Given the description of an element on the screen output the (x, y) to click on. 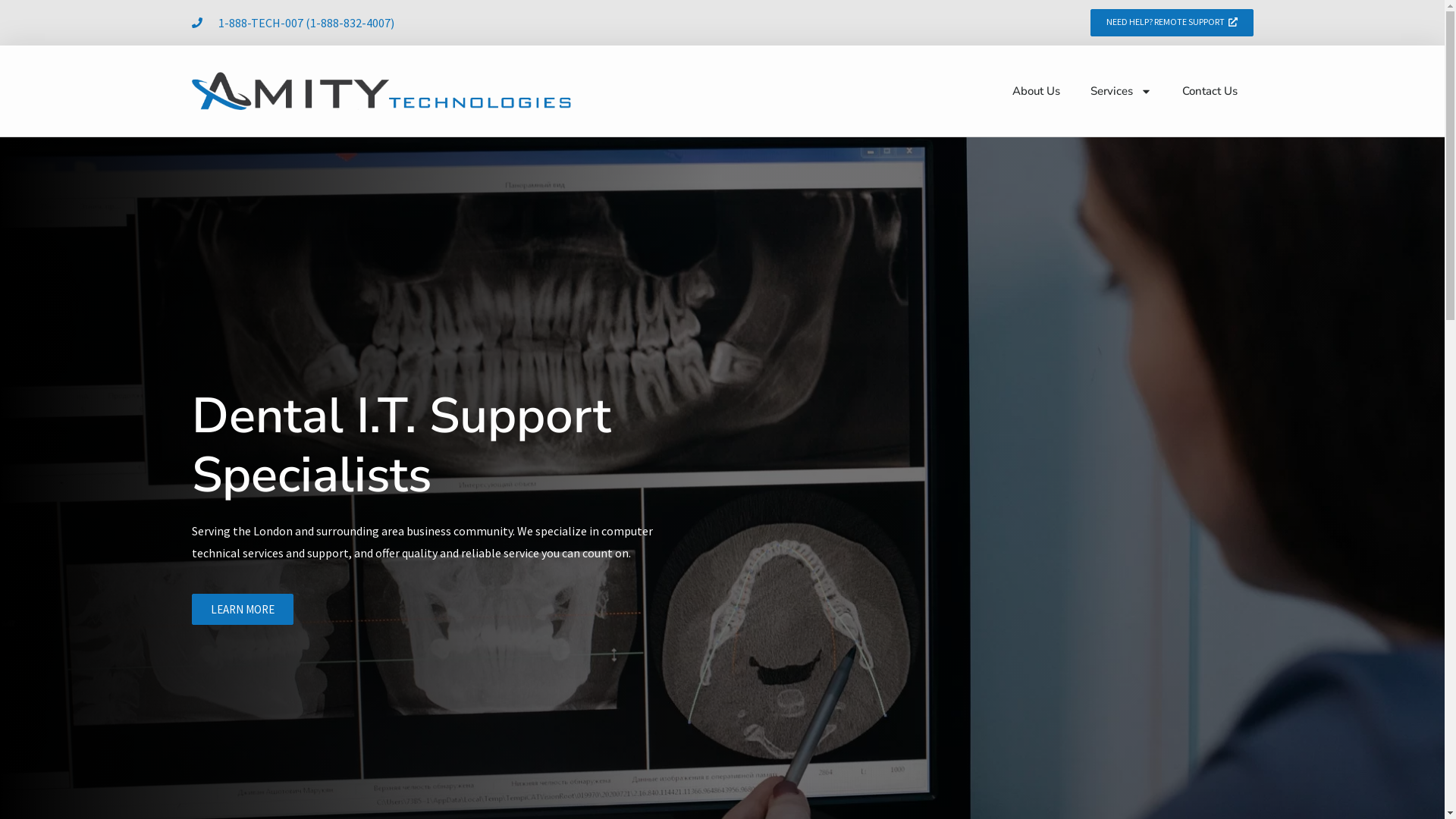
Contact Us Element type: text (1209, 90)
1-888-TECH-007 (1-888-832-4007) Element type: text (292, 23)
LEARN MORE Element type: text (241, 608)
Services Element type: text (1121, 90)
NEED HELP? REMOTE SUPPORT Element type: text (1171, 22)
About Us Element type: text (1036, 90)
